Given the description of an element on the screen output the (x, y) to click on. 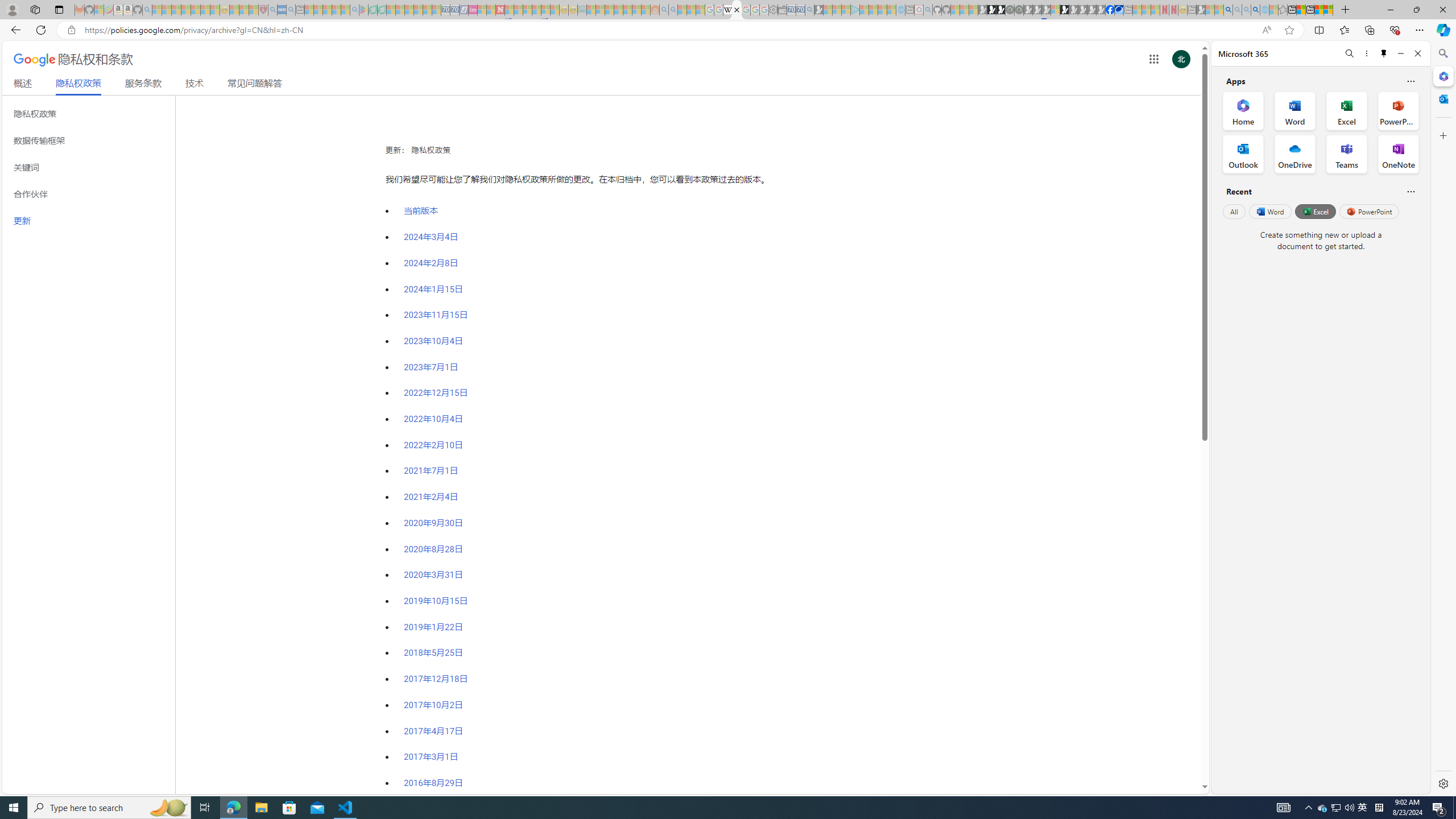
Excel Office App (1346, 110)
github - Search - Sleeping (927, 9)
Wallet - Sleeping (782, 9)
Play Zoo Boom in your browser | Games from Microsoft Start (991, 9)
